Given the description of an element on the screen output the (x, y) to click on. 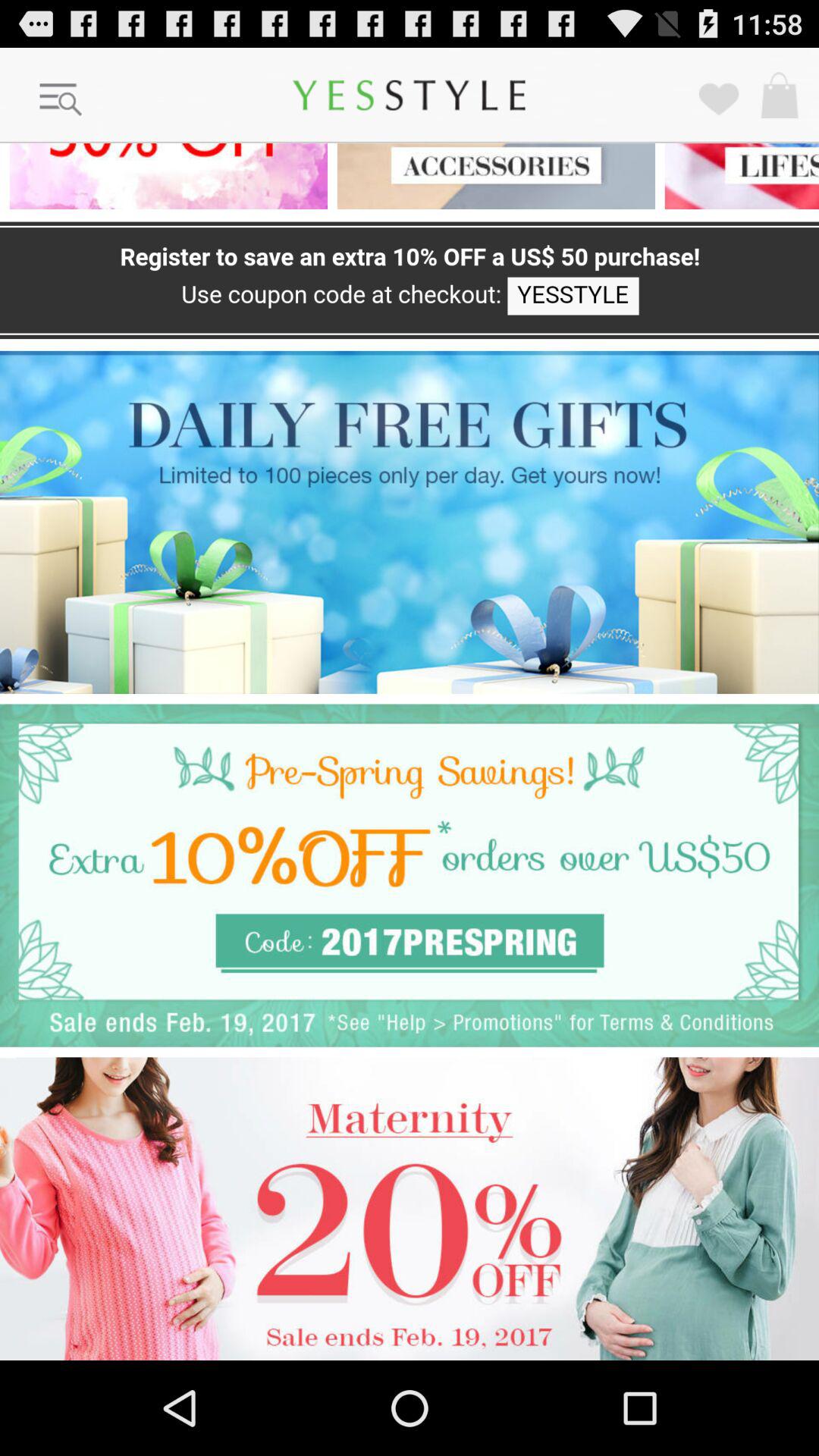
click the category (737, 176)
